Given the description of an element on the screen output the (x, y) to click on. 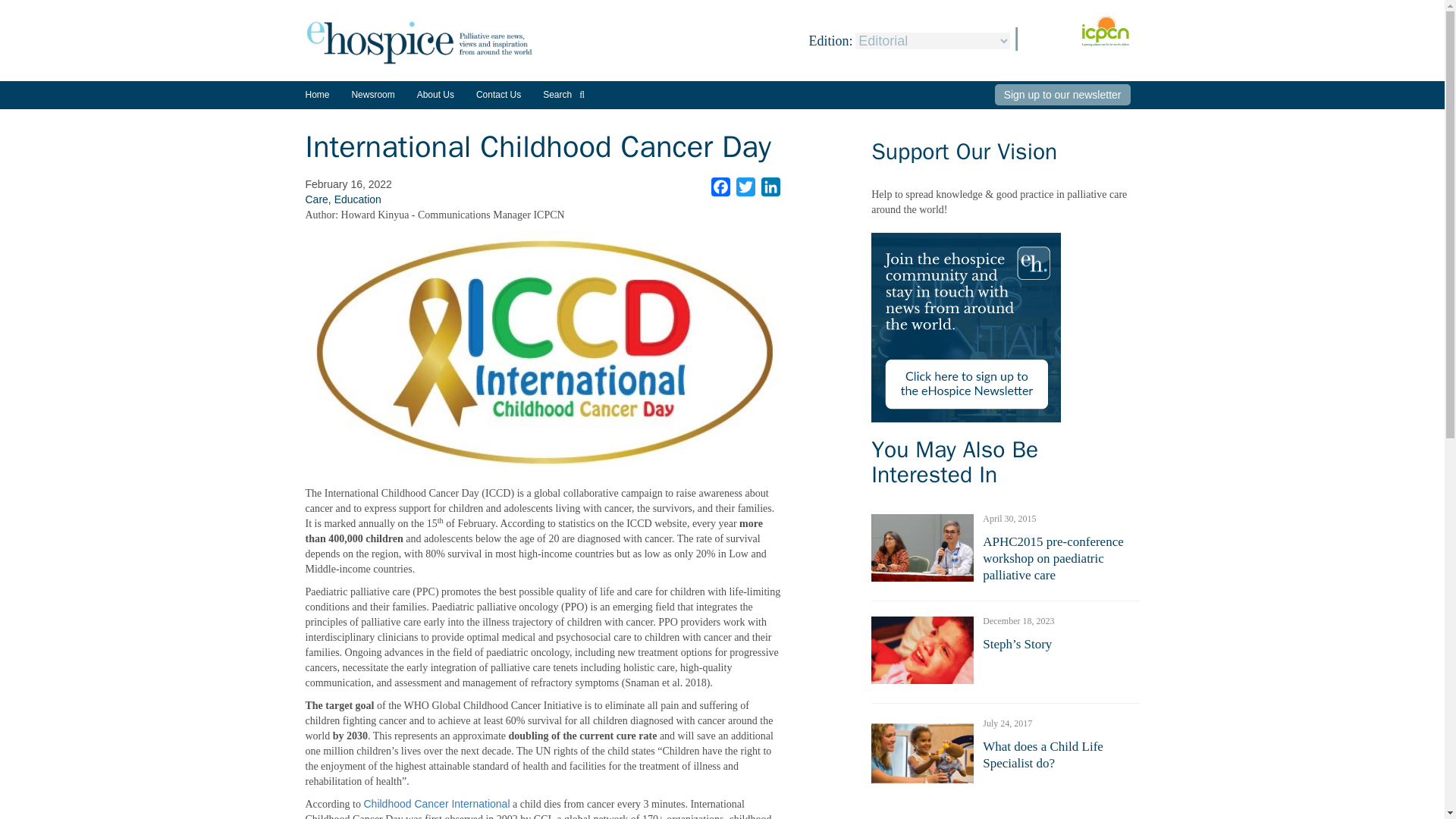
LinkedIn (770, 186)
Contact Us (498, 94)
Twitter (745, 186)
Sign up to our newsletter (1062, 94)
Search (564, 94)
Facebook (720, 186)
Home (316, 94)
About Us (435, 94)
Newsroom (372, 100)
